Given the description of an element on the screen output the (x, y) to click on. 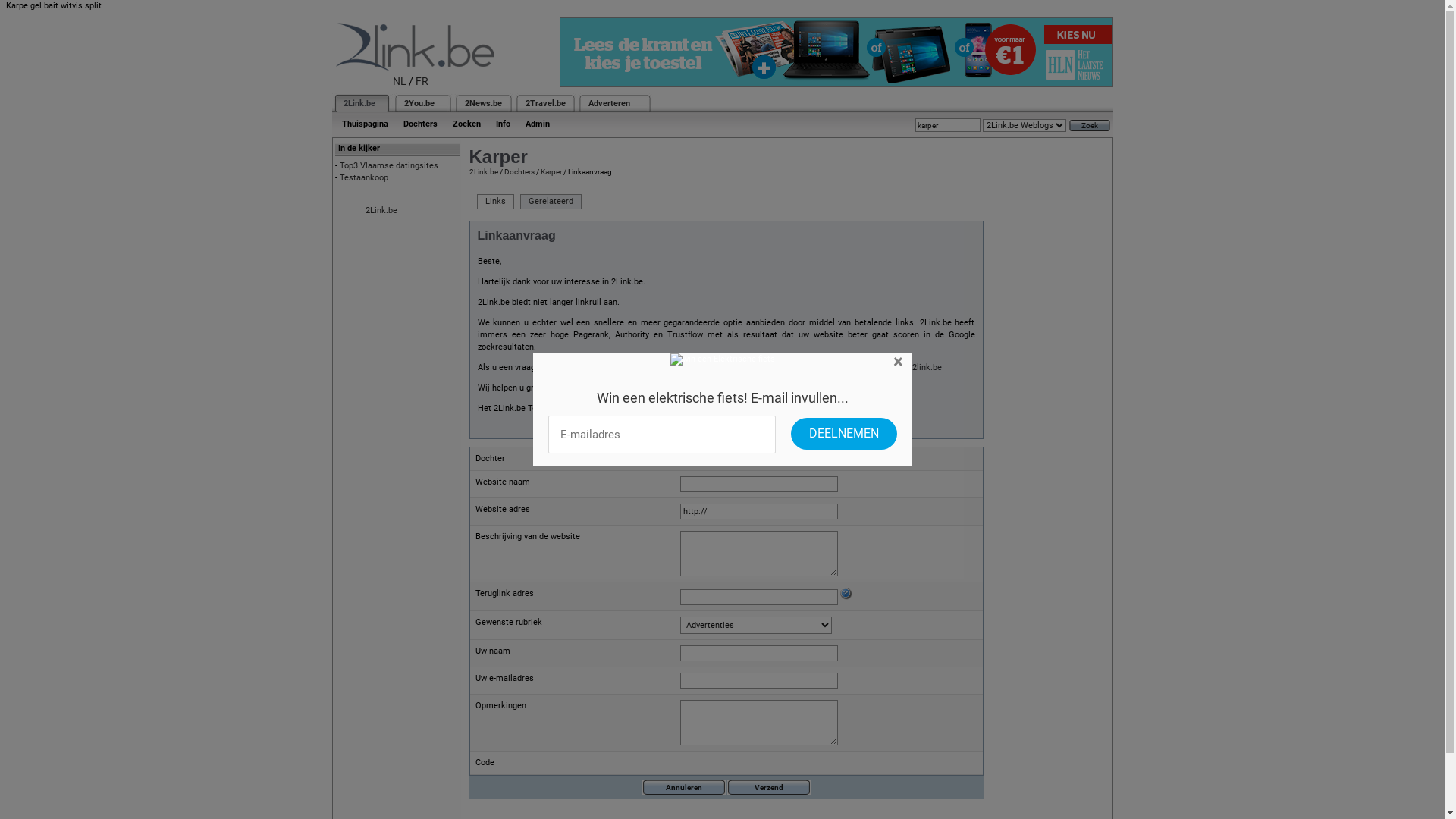
Zoeken Element type: text (465, 123)
FR Element type: text (421, 81)
Top3 Vlaamse datingsites Element type: text (388, 165)
NL Element type: text (399, 81)
Links Element type: text (494, 201)
Dochters Element type: text (420, 123)
info@2link.be Element type: text (915, 367)
Karper Element type: text (550, 171)
2Link.be Element type: text (381, 210)
Dochters Element type: text (518, 171)
Thuispagina Element type: text (364, 123)
Info Element type: text (502, 123)
Adverteren Element type: text (609, 103)
2Link.be Element type: text (358, 103)
2News.be Element type: text (482, 103)
Testaankoop Element type: text (363, 177)
Zoek Element type: text (1089, 125)
Gerelateerd Element type: text (550, 201)
2Link.be Element type: text (482, 171)
Verzend Element type: text (767, 787)
Admin Element type: text (536, 123)
2Travel.be Element type: text (544, 103)
2You.be Element type: text (418, 103)
